Given the description of an element on the screen output the (x, y) to click on. 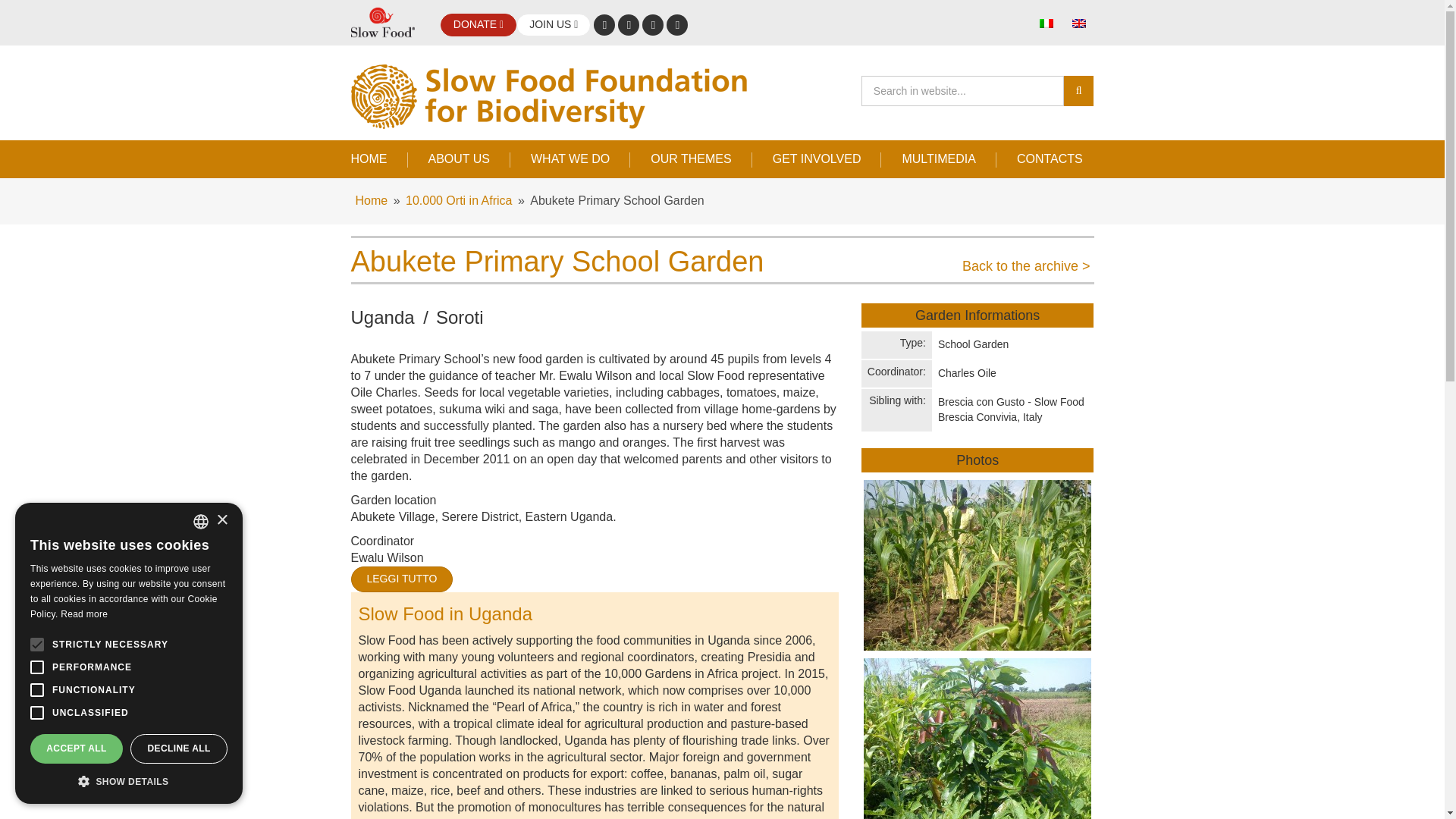
OUR THEMES (690, 158)
DONATE (477, 24)
Slow Food (382, 22)
ABOUT US (459, 158)
GET INVOLVED (817, 158)
JOIN US (553, 24)
HOME (378, 158)
MULTIMEDIA (937, 158)
Slow Food Foundation (562, 96)
WHAT WE DO (570, 158)
